Given the description of an element on the screen output the (x, y) to click on. 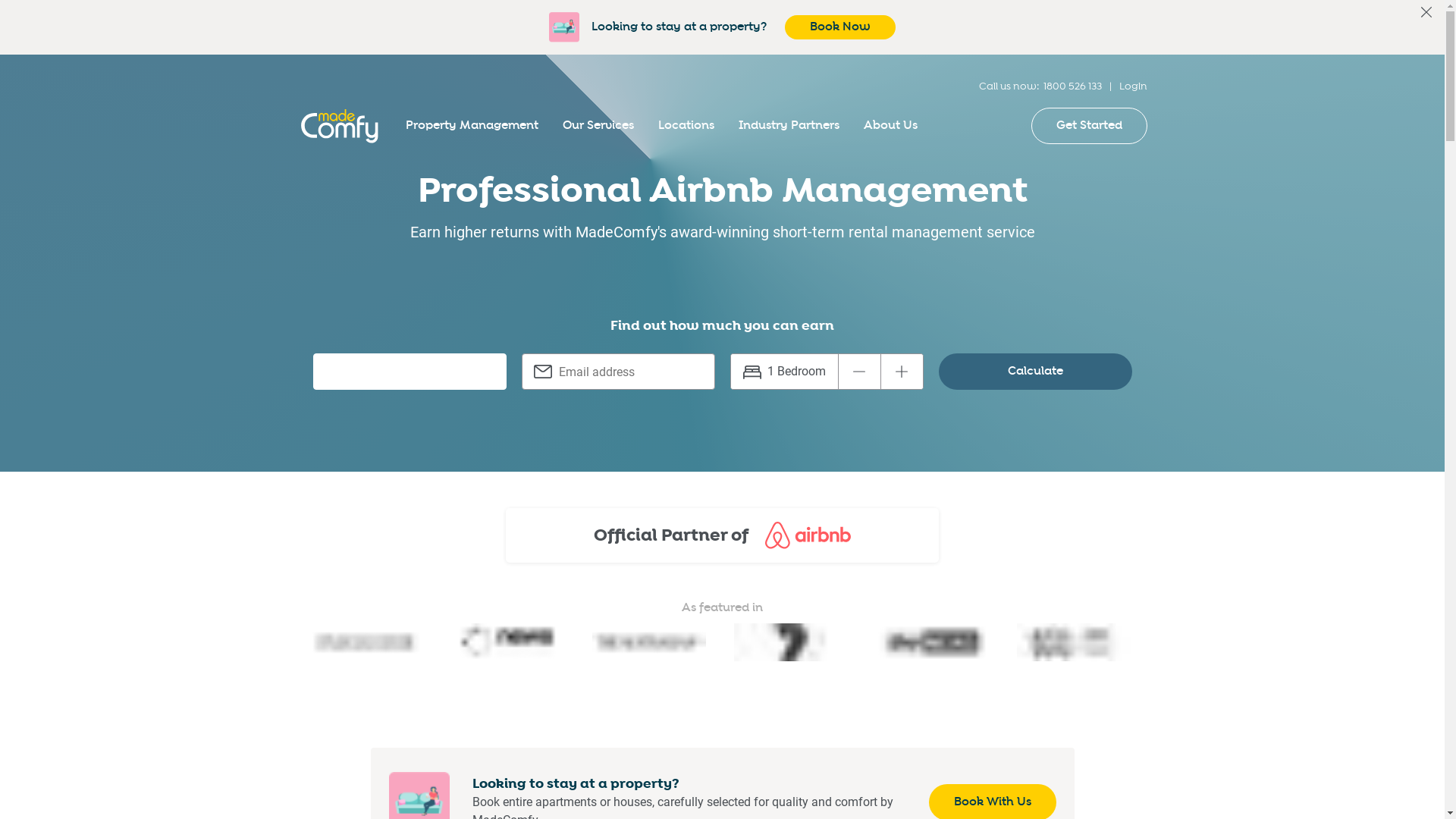
Property Management Element type: text (470, 125)
Login Element type: text (1133, 86)
Get Started Element type: text (1089, 125)
1800 526 133 Element type: text (1072, 86)
About Us Element type: text (889, 125)
Calculate Element type: text (1035, 371)
Book Now Element type: text (839, 27)
Industry Partners Element type: text (788, 125)
Locations Element type: text (686, 125)
Our Services Element type: text (597, 125)
